Given the description of an element on the screen output the (x, y) to click on. 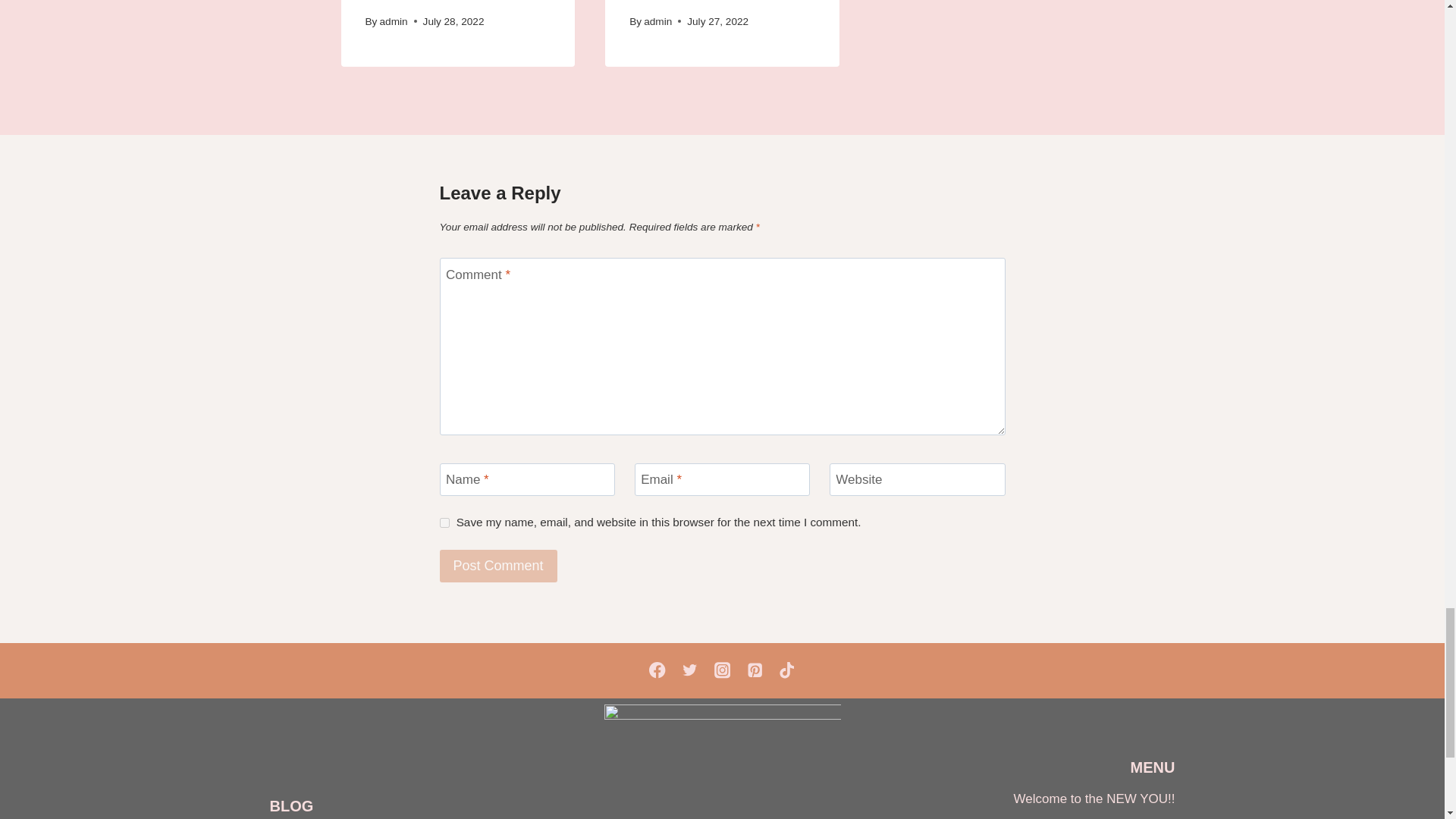
Post Comment (498, 565)
yes (444, 522)
